Given the description of an element on the screen output the (x, y) to click on. 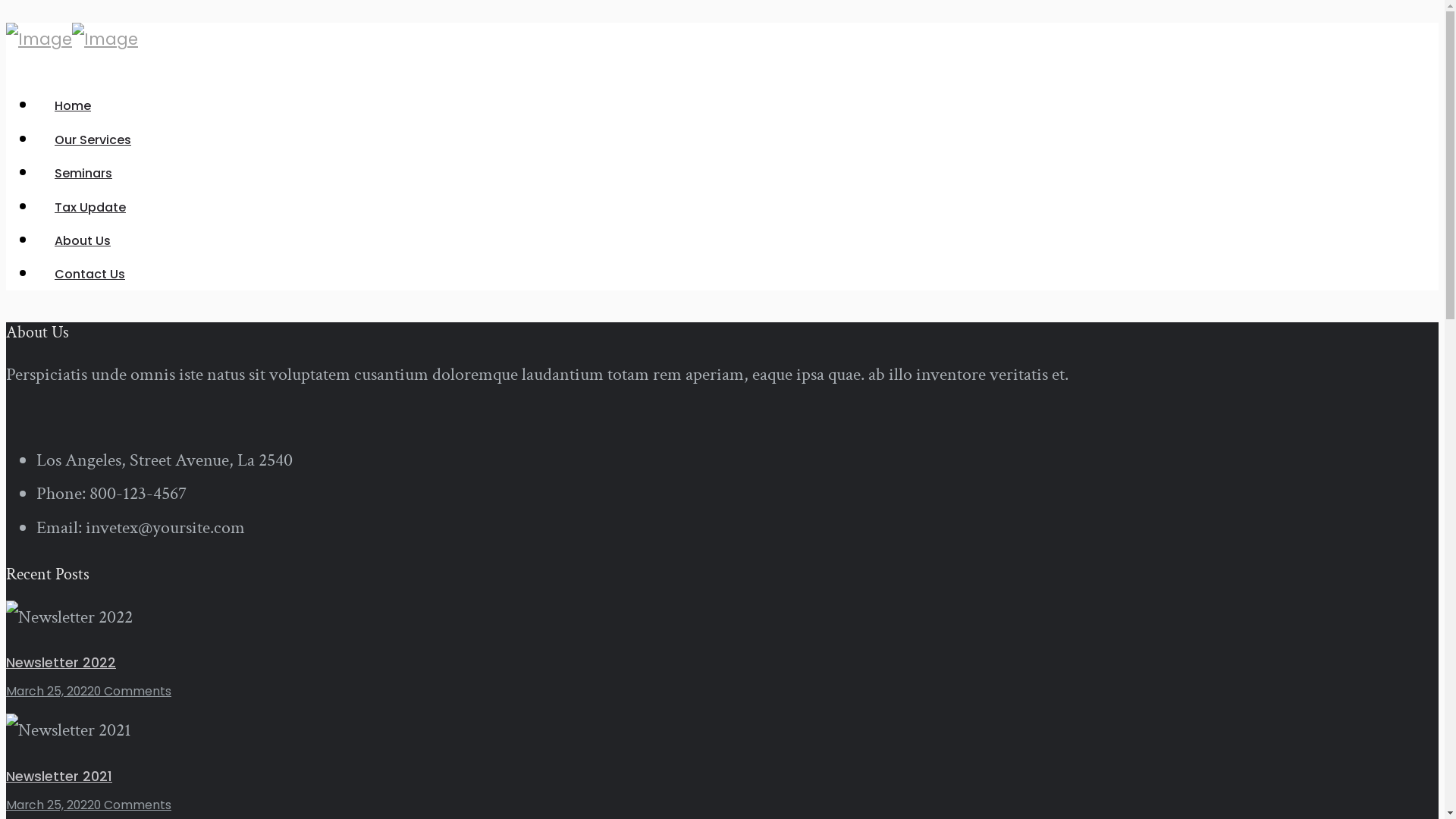
0 Comments Element type: text (132, 690)
Contact Us Element type: text (89, 274)
Newsletter 2022 Element type: text (61, 662)
March 25, 2022 Element type: text (50, 690)
0 Comments Element type: text (132, 804)
Tax Update Element type: text (90, 207)
About Us Element type: text (82, 240)
March 25, 2022 Element type: text (50, 804)
Our Services Element type: text (92, 139)
Home Element type: text (72, 105)
Newsletter 2021 Element type: text (59, 776)
Seminars Element type: text (83, 173)
